Given the description of an element on the screen output the (x, y) to click on. 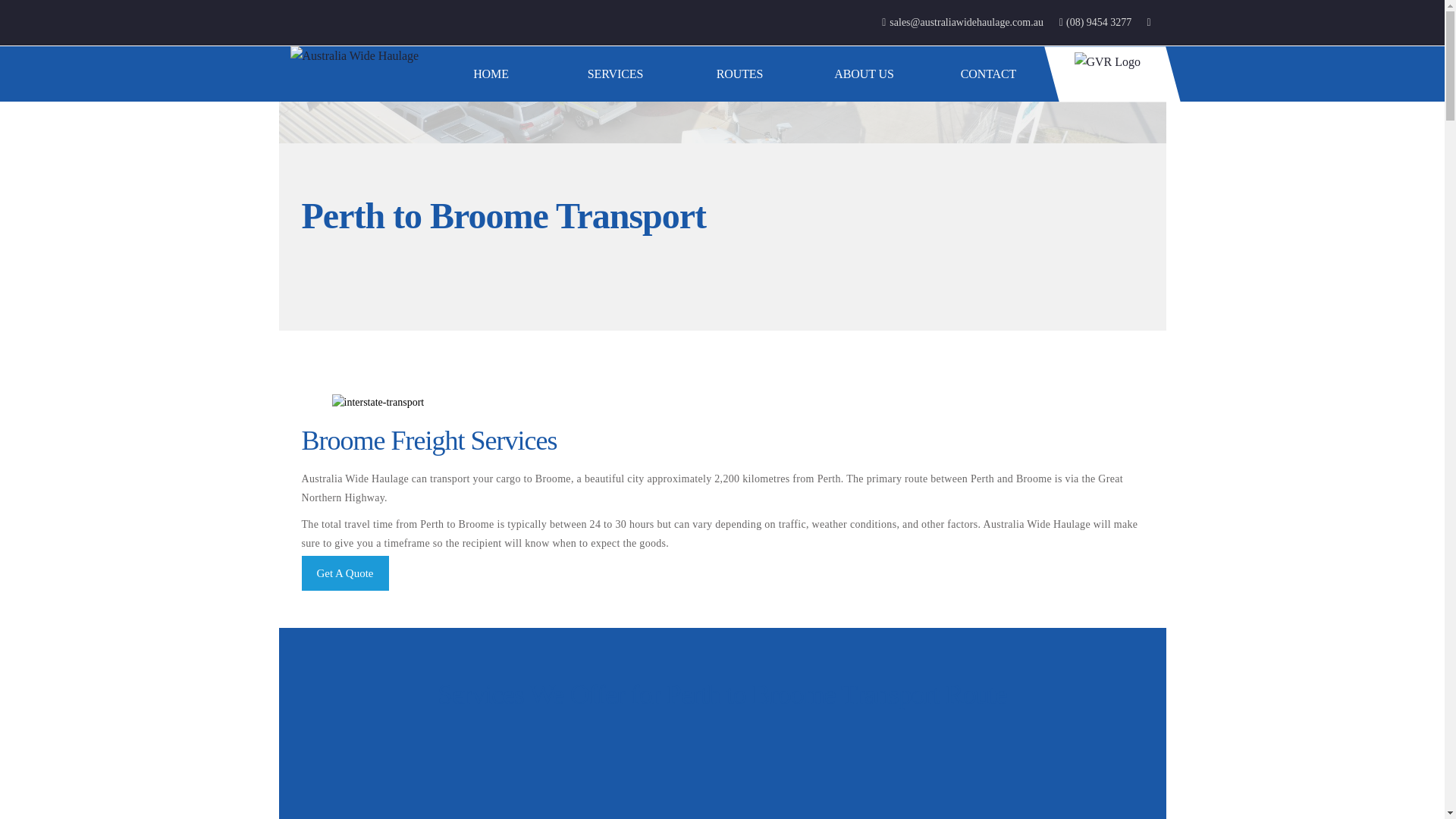
HOME (490, 73)
SERVICES (615, 73)
ROUTES (739, 73)
Get A Quote (344, 573)
Australia Wide Haulage (362, 55)
ABOUT US (863, 73)
CONTACT (988, 73)
